Given the description of an element on the screen output the (x, y) to click on. 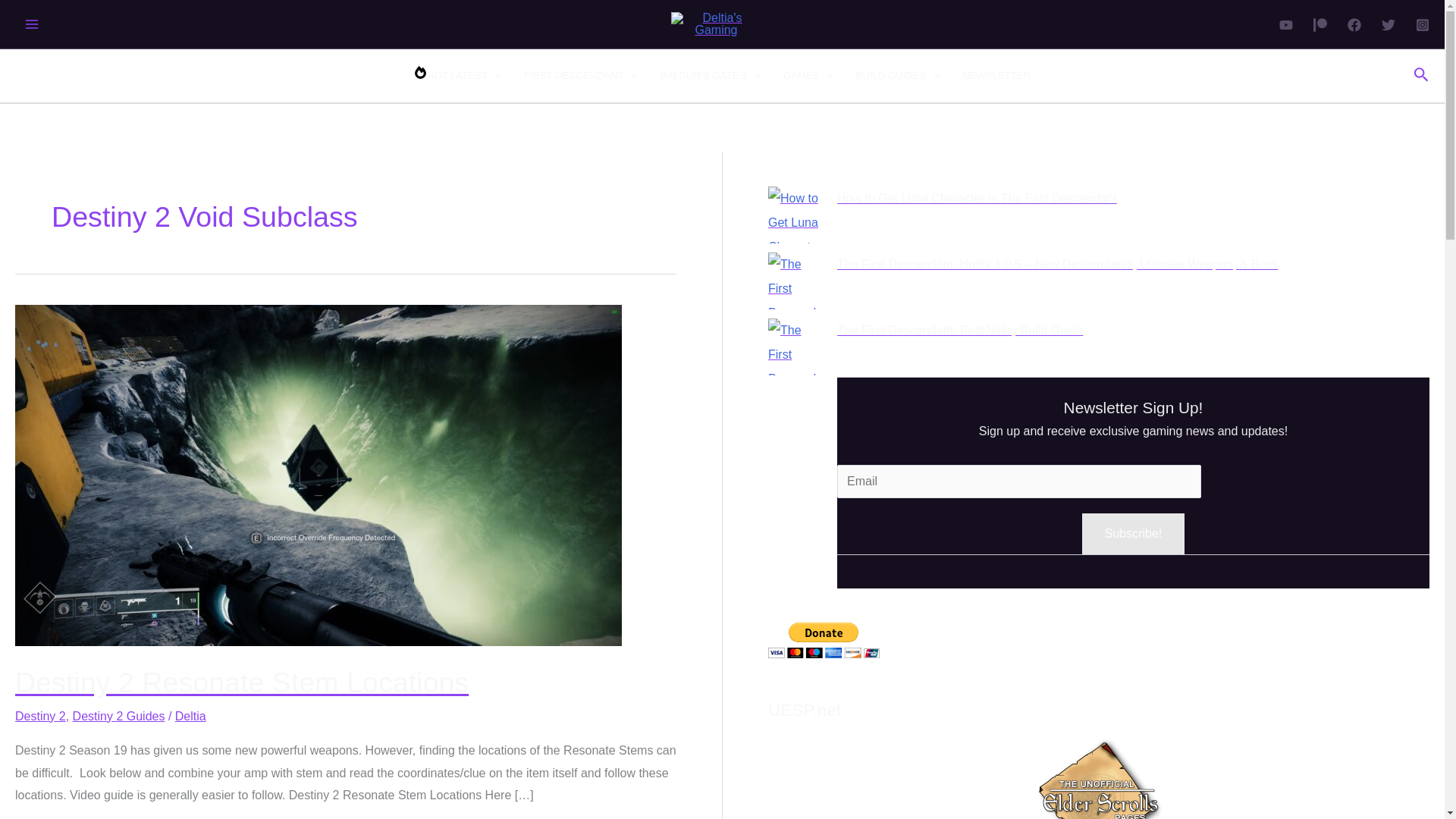
HOT LATEST (457, 75)
FIRST DESCENDANT (580, 75)
View all posts by Deltia (190, 716)
PayPal - The safer, easier way to pay online! (823, 640)
Subscribe! (1133, 533)
